Given the description of an element on the screen output the (x, y) to click on. 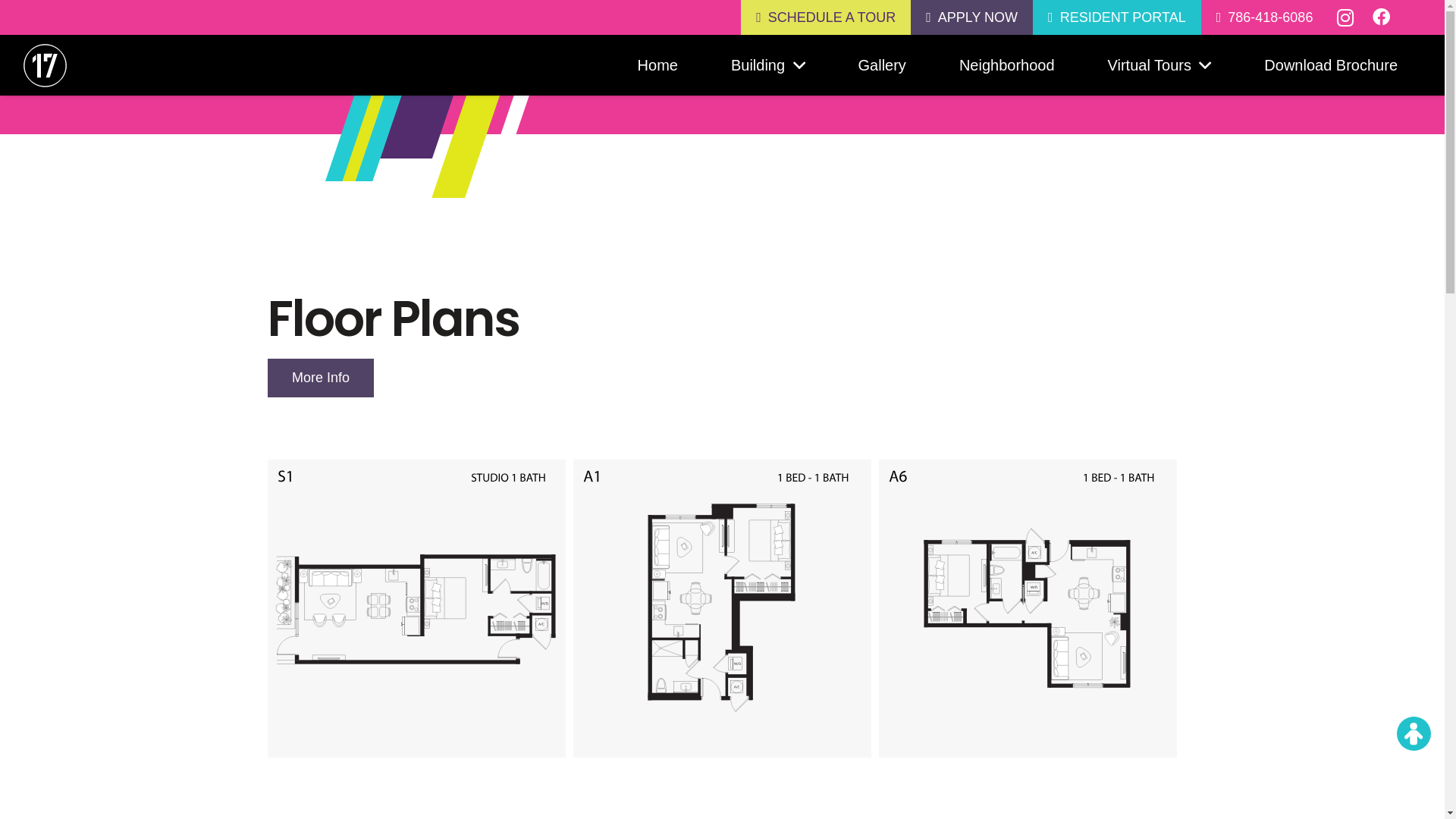
Gallery Element type: text (881, 64)
Home Element type: text (657, 64)
Virtual Tours Element type: text (1159, 64)
Facebook Element type: hover (1381, 17)
786-418-6086 Element type: text (1264, 17)
Building Element type: text (767, 64)
Neighborhood Element type: text (1006, 64)
Instagram Element type: hover (1345, 17)
RESIDENT PORTAL Element type: text (1116, 17)
Download Brochure Element type: text (1330, 64)
APPLY NOW Element type: text (971, 17)
SCHEDULE A TOUR Element type: text (825, 17)
More Info Element type: text (319, 377)
